Given the description of an element on the screen output the (x, y) to click on. 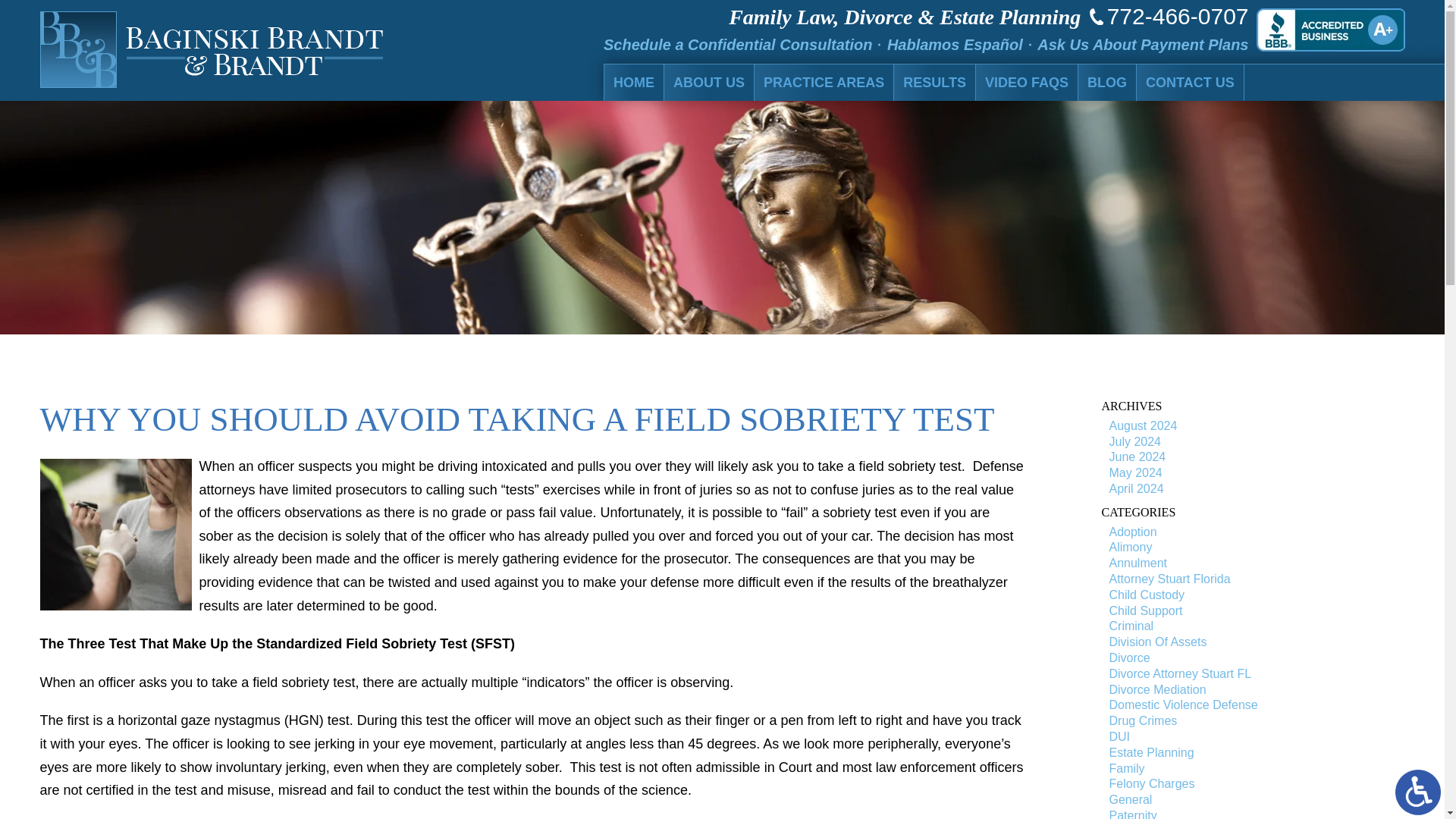
DrunkDriv (114, 534)
HOME (1004, 82)
ABOUT US (1055, 82)
PRACTICE AREAS (999, 82)
